Given the description of an element on the screen output the (x, y) to click on. 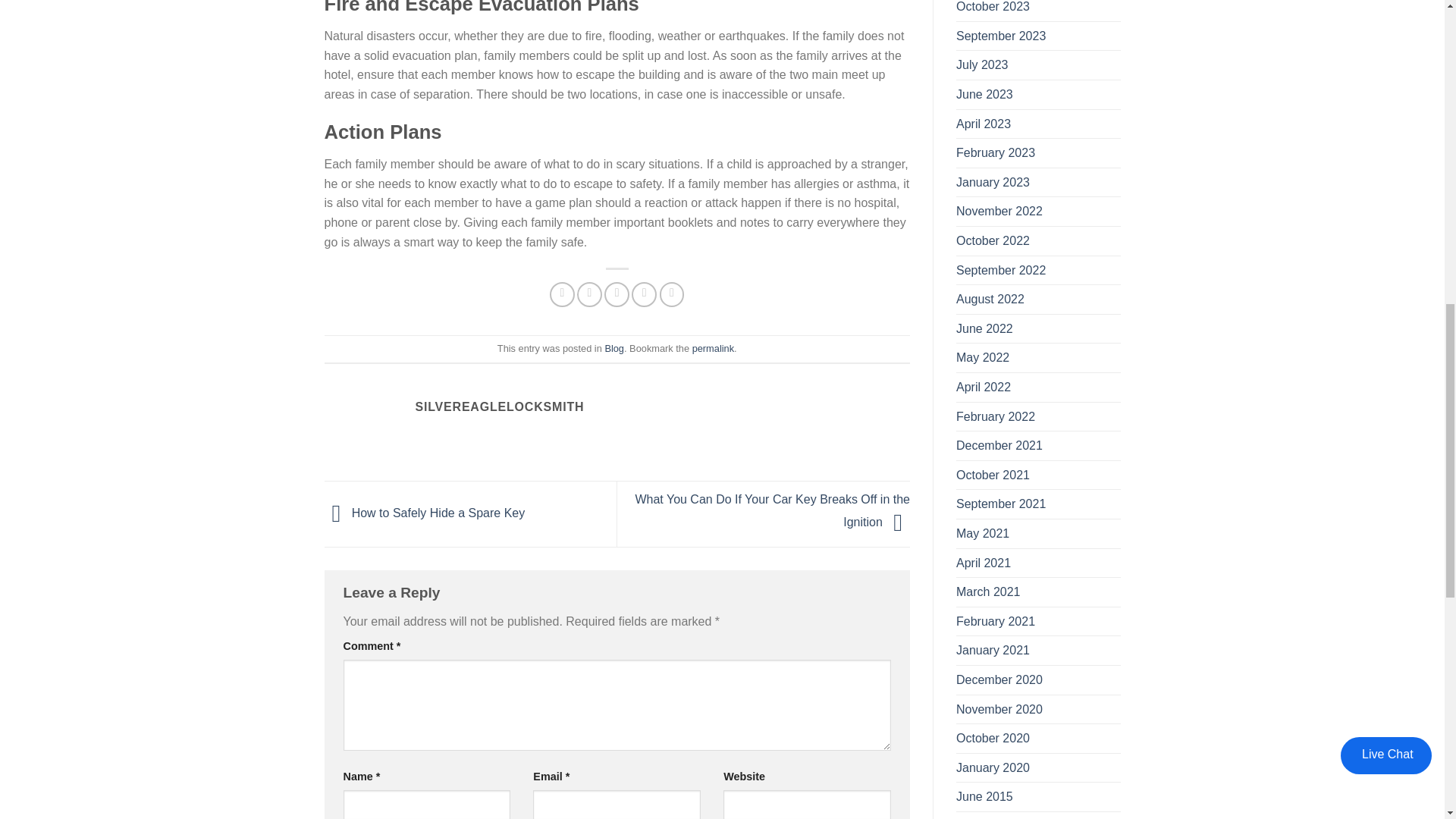
Email to a Friend (616, 294)
Pin on Pinterest (643, 294)
Permalink to Staying Safe During a Las Vegas Vacation (713, 348)
Share on Facebook (562, 294)
Share on LinkedIn (671, 294)
Share on Twitter (589, 294)
